Given the description of an element on the screen output the (x, y) to click on. 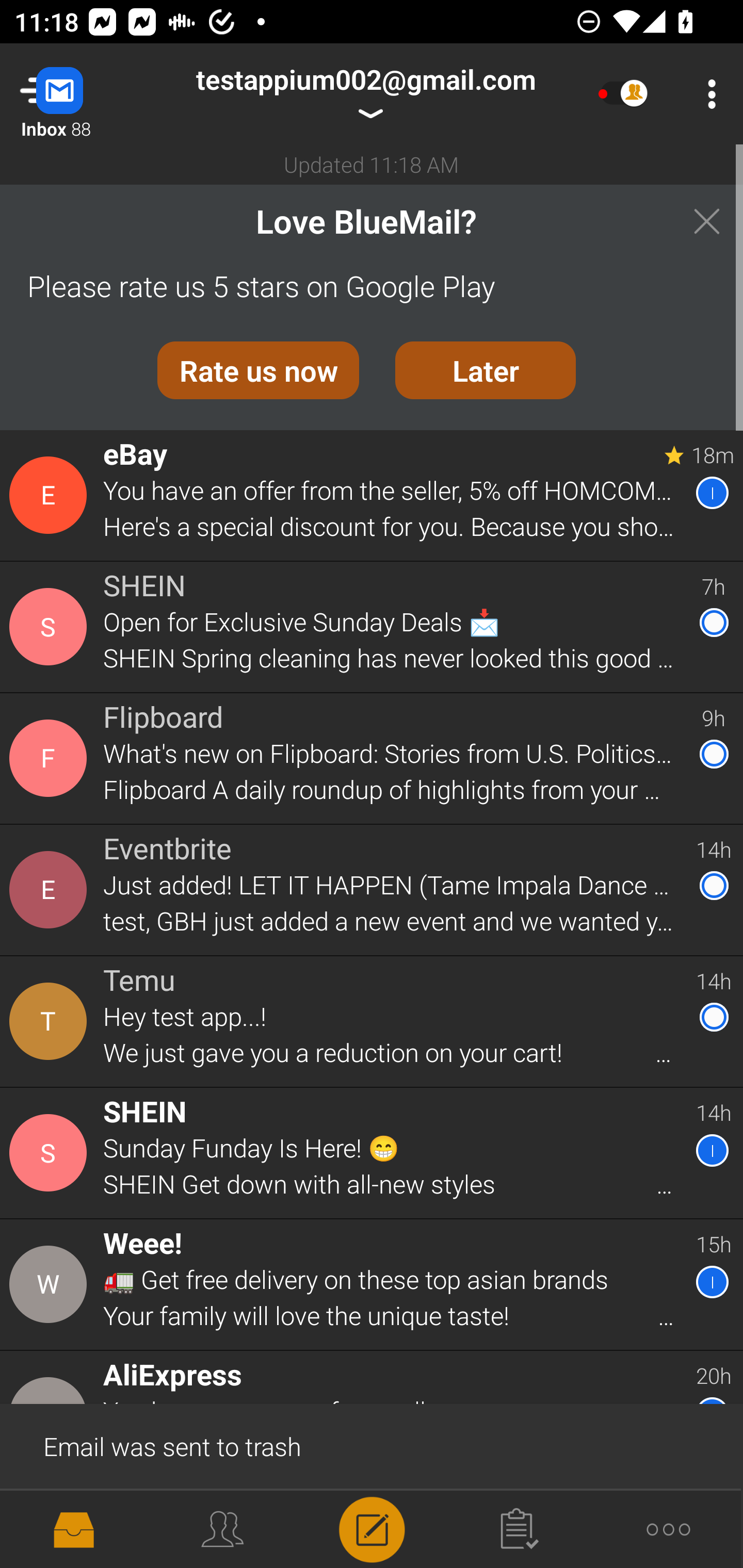
Navigate up (81, 93)
testappium002@gmail.com (365, 93)
More Options (706, 93)
Updated 11:18 AM (371, 164)
Rate us now (257, 370)
Later (485, 370)
Contact Details (50, 495)
Contact Details (50, 626)
Contact Details (50, 758)
Contact Details (50, 889)
Contact Details (50, 1021)
Contact Details (50, 1153)
Contact Details (50, 1284)
Email was sent to trash (371, 1445)
Compose (371, 1528)
